Given the description of an element on the screen output the (x, y) to click on. 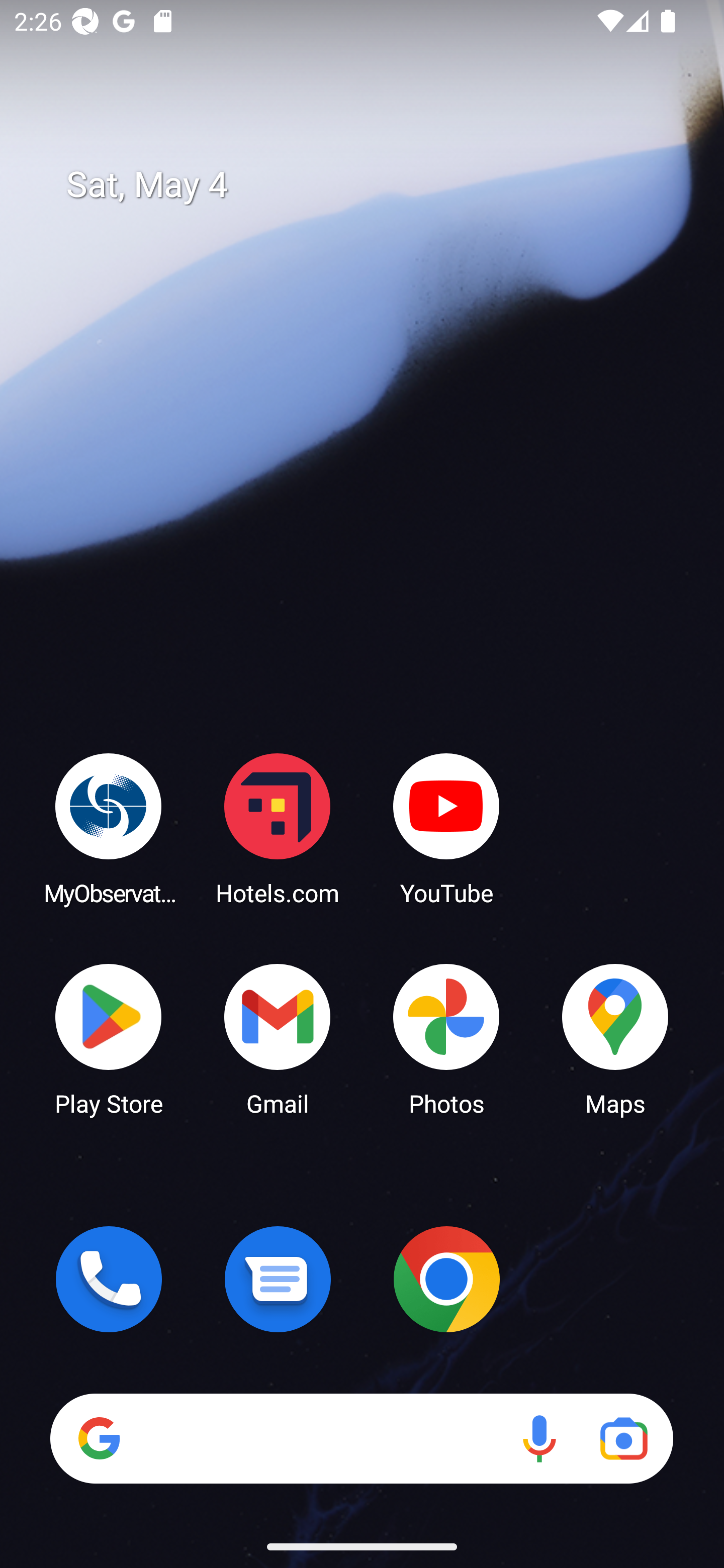
Sat, May 4 (375, 184)
MyObservatory (108, 828)
Hotels.com (277, 828)
YouTube (445, 828)
Play Store (108, 1038)
Gmail (277, 1038)
Photos (445, 1038)
Maps (615, 1038)
Phone (108, 1279)
Messages (277, 1279)
Chrome (446, 1279)
Search Voice search Google Lens (361, 1438)
Voice search (539, 1438)
Google Lens (623, 1438)
